Given the description of an element on the screen output the (x, y) to click on. 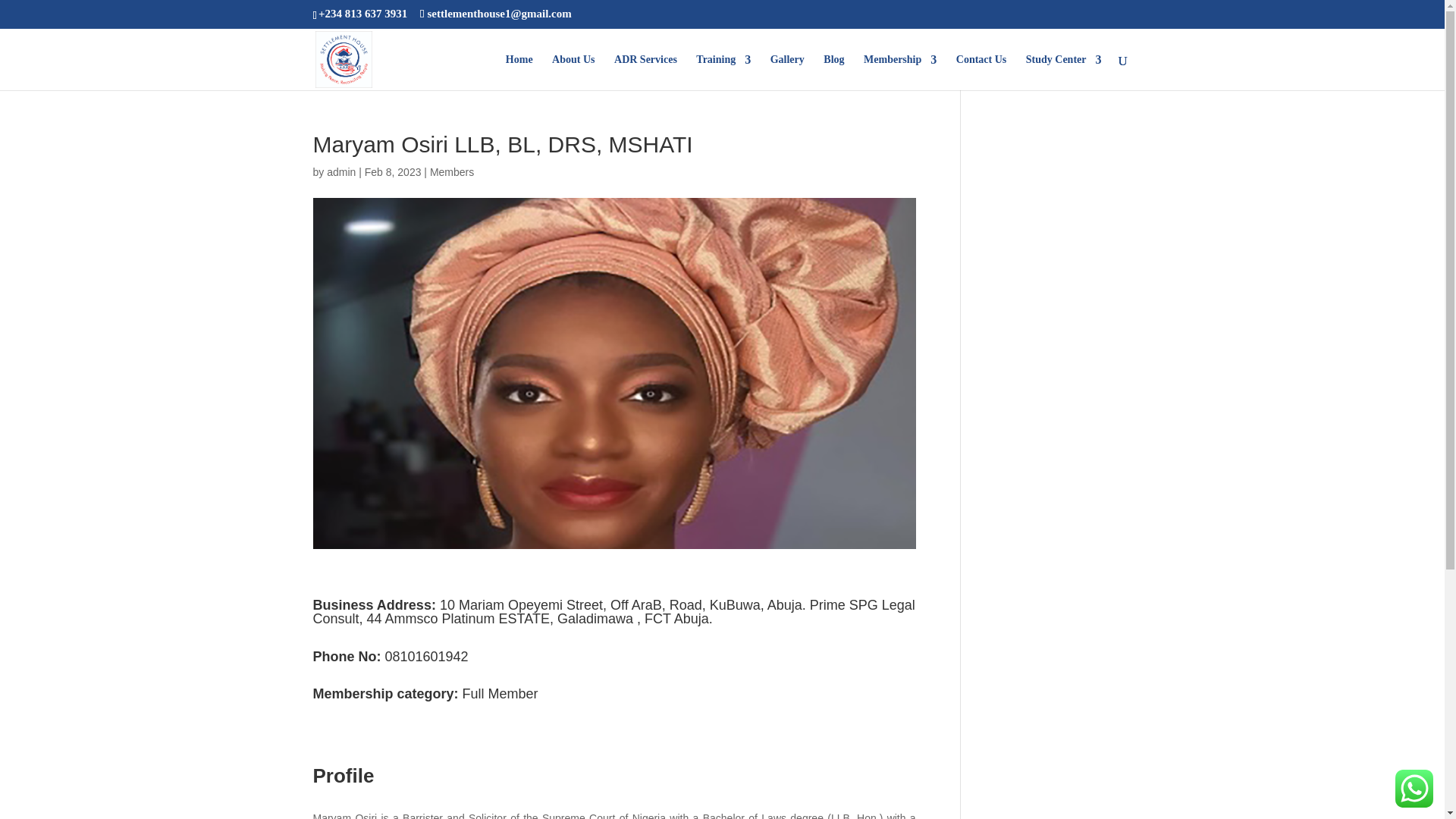
Members (451, 172)
About Us (572, 72)
Contact Us (981, 72)
Posts by admin (340, 172)
Gallery (787, 72)
Training (723, 72)
admin (340, 172)
Membership (899, 72)
ADR Services (645, 72)
Study Center (1064, 72)
